Given the description of an element on the screen output the (x, y) to click on. 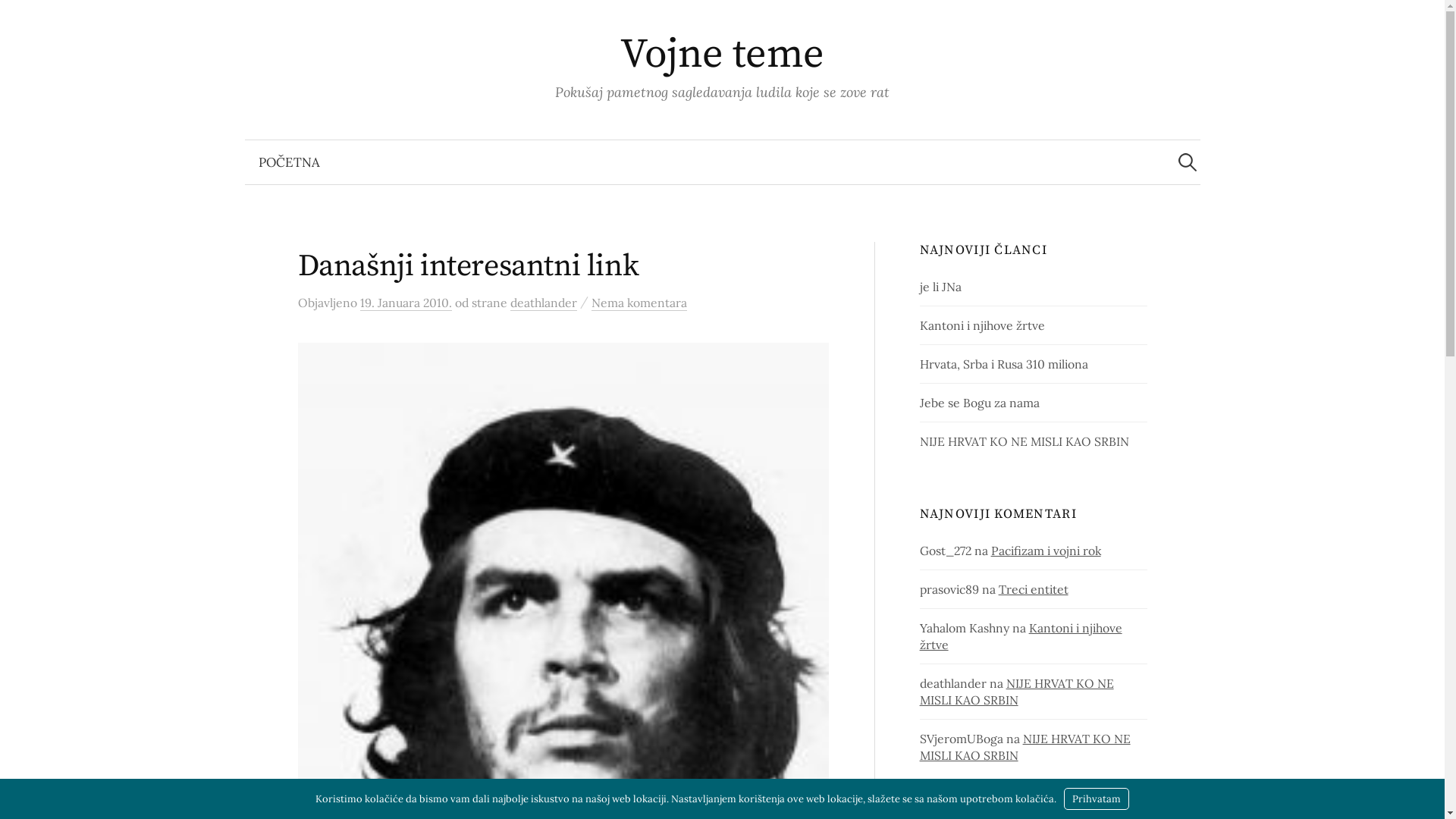
Pacifizam i vojni rok Element type: text (1046, 550)
je li JNa Element type: text (940, 286)
deathlander Element type: text (542, 302)
19. Januara 2010. Element type: text (405, 302)
Treci entitet Element type: text (1033, 588)
Hrvata, Srba i Rusa 310 miliona Element type: text (1003, 363)
NIJE HRVAT KO NE MISLI KAO SRBIN Element type: text (1016, 691)
Jebe se Bogu za nama Element type: text (979, 402)
Pretraga Element type: text (18, 18)
NIJE HRVAT KO NE MISLI KAO SRBIN Element type: text (1024, 440)
Prihvatam Element type: text (1096, 798)
Vojne teme Element type: text (722, 54)
NIJE HRVAT KO NE MISLI KAO SRBIN Element type: text (1024, 746)
